Given the description of an element on the screen output the (x, y) to click on. 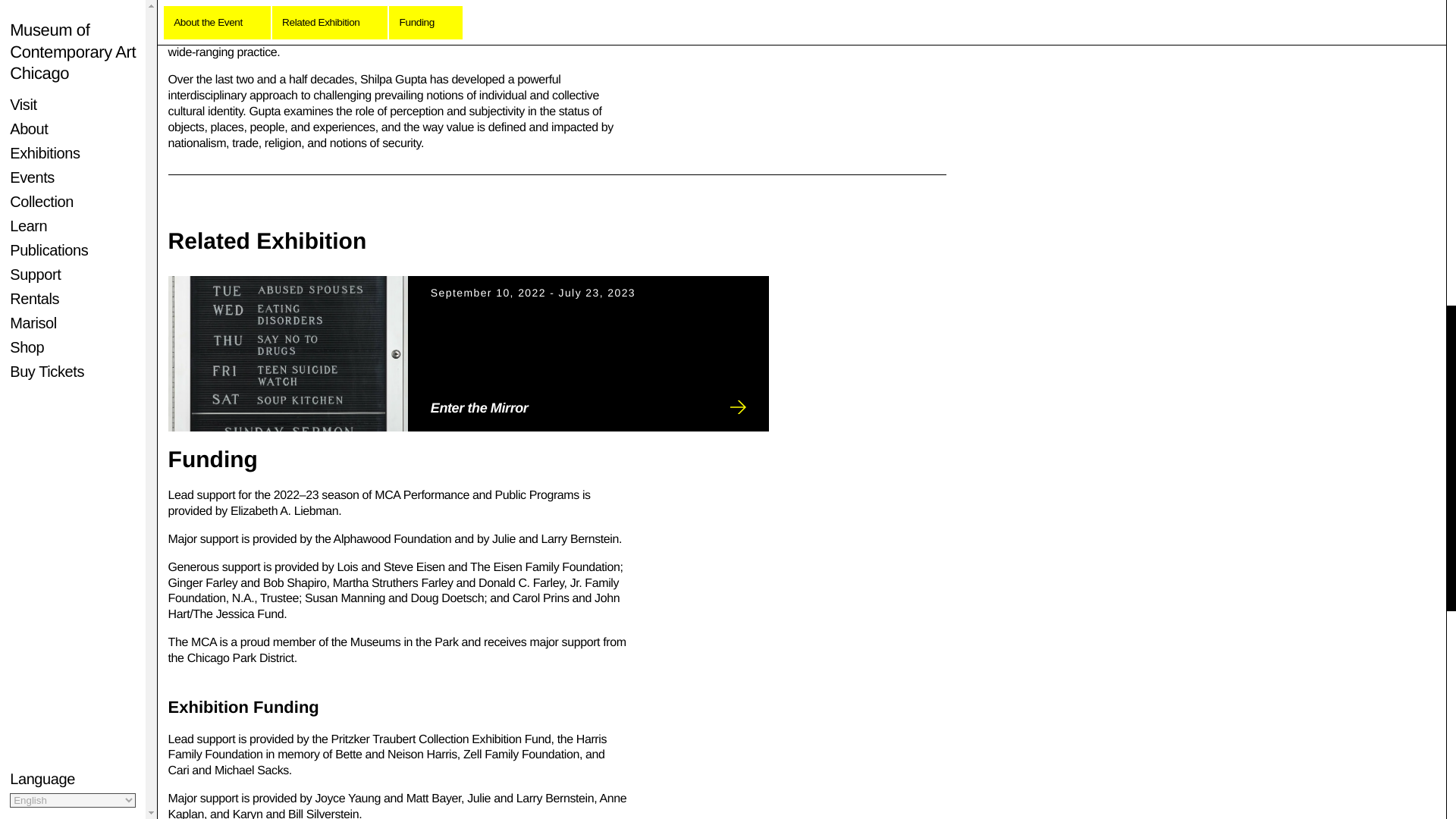
Enter the Mirror (468, 353)
